Given the description of an element on the screen output the (x, y) to click on. 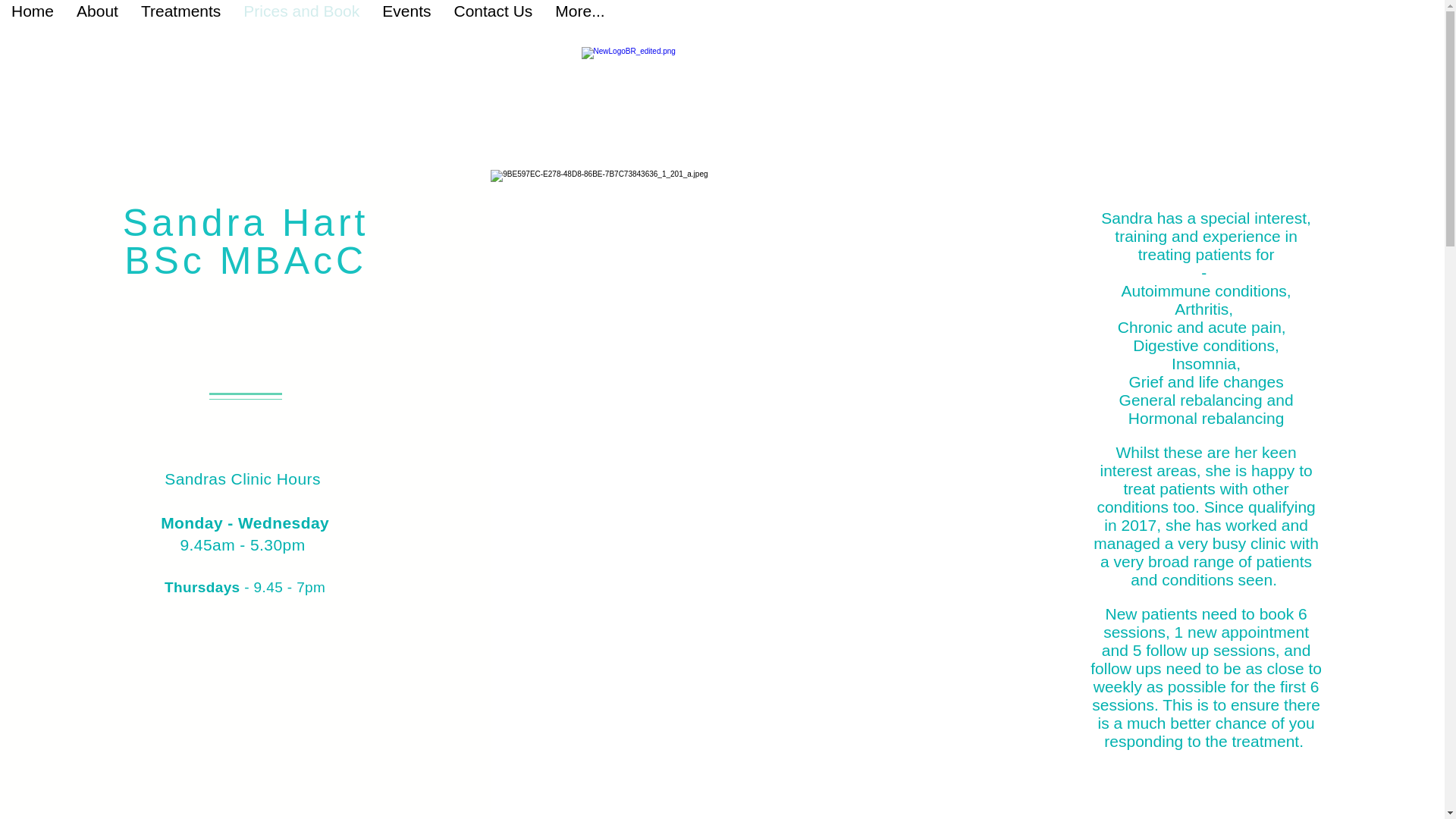
Prices and Book (301, 17)
About (97, 17)
Contact Us (492, 17)
Events (406, 17)
Home (726, 101)
Home (32, 17)
Treatments (180, 17)
